Given the description of an element on the screen output the (x, y) to click on. 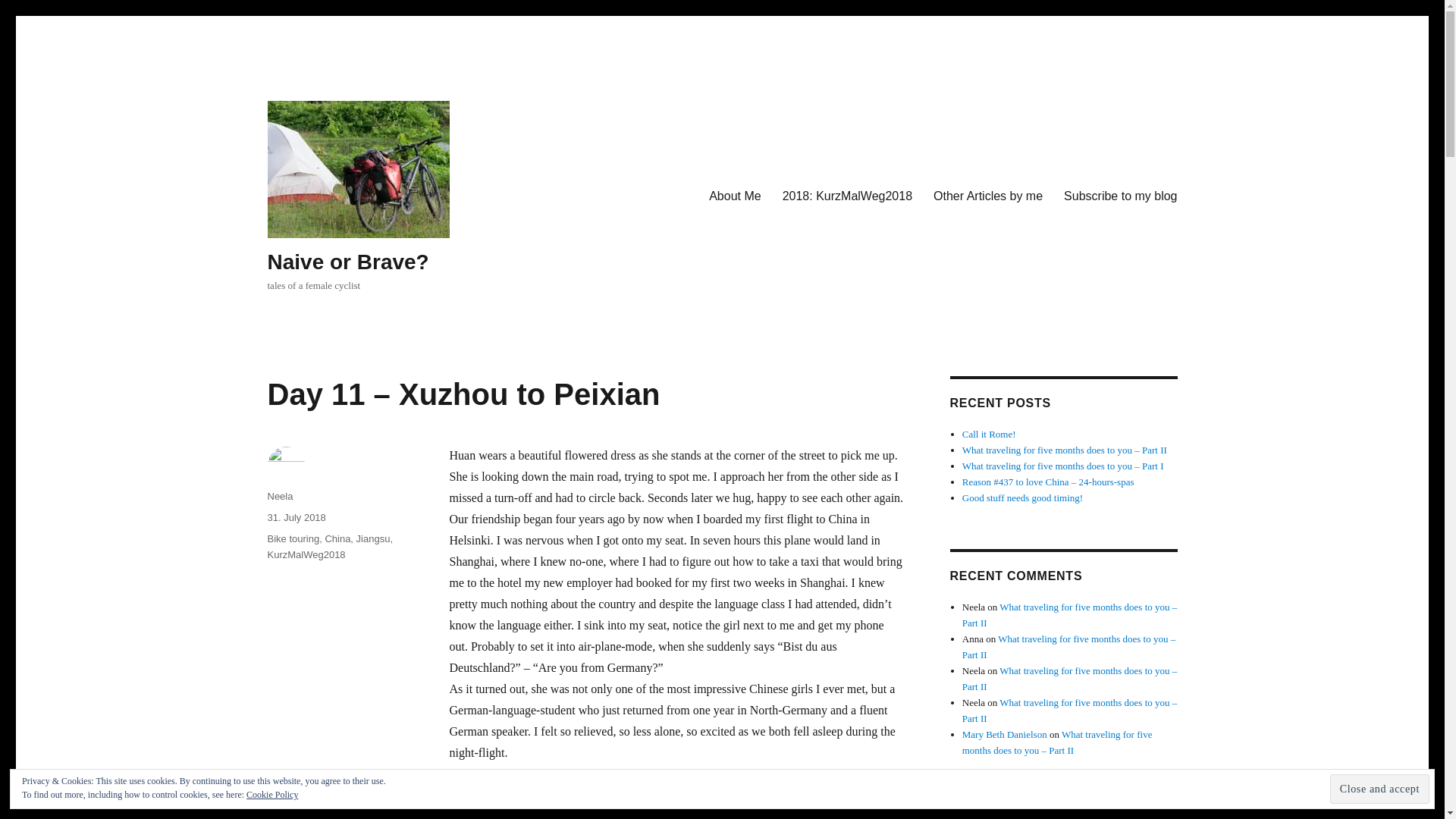
Jiangsu (373, 538)
China (337, 538)
Subscribe to my blog (1120, 195)
Neela (279, 496)
Naive or Brave? (347, 261)
KurzMalWeg2018 (305, 554)
Close and accept (1379, 788)
2018: KurzMalWeg2018 (847, 195)
Other Articles by me (987, 195)
About Me (734, 195)
